Given the description of an element on the screen output the (x, y) to click on. 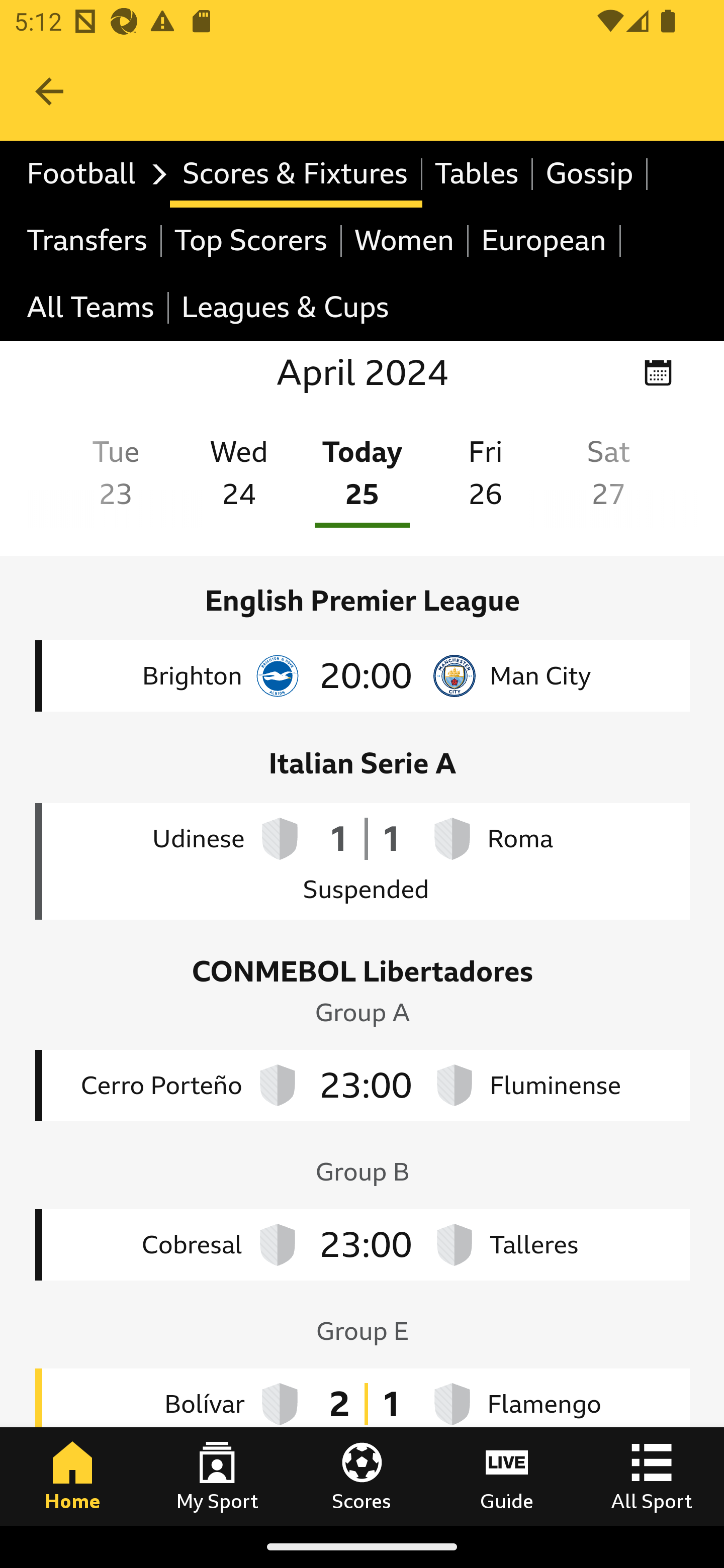
Navigate up (49, 91)
Football (91, 173)
Scores & Fixtures (295, 173)
Tables (477, 173)
Gossip (590, 173)
Transfers (88, 240)
Top Scorers (251, 240)
Women (405, 240)
European (544, 240)
All Teams (91, 308)
Leagues & Cups (284, 308)
My Sport (216, 1475)
Scores (361, 1475)
Guide (506, 1475)
All Sport (651, 1475)
